Given the description of an element on the screen output the (x, y) to click on. 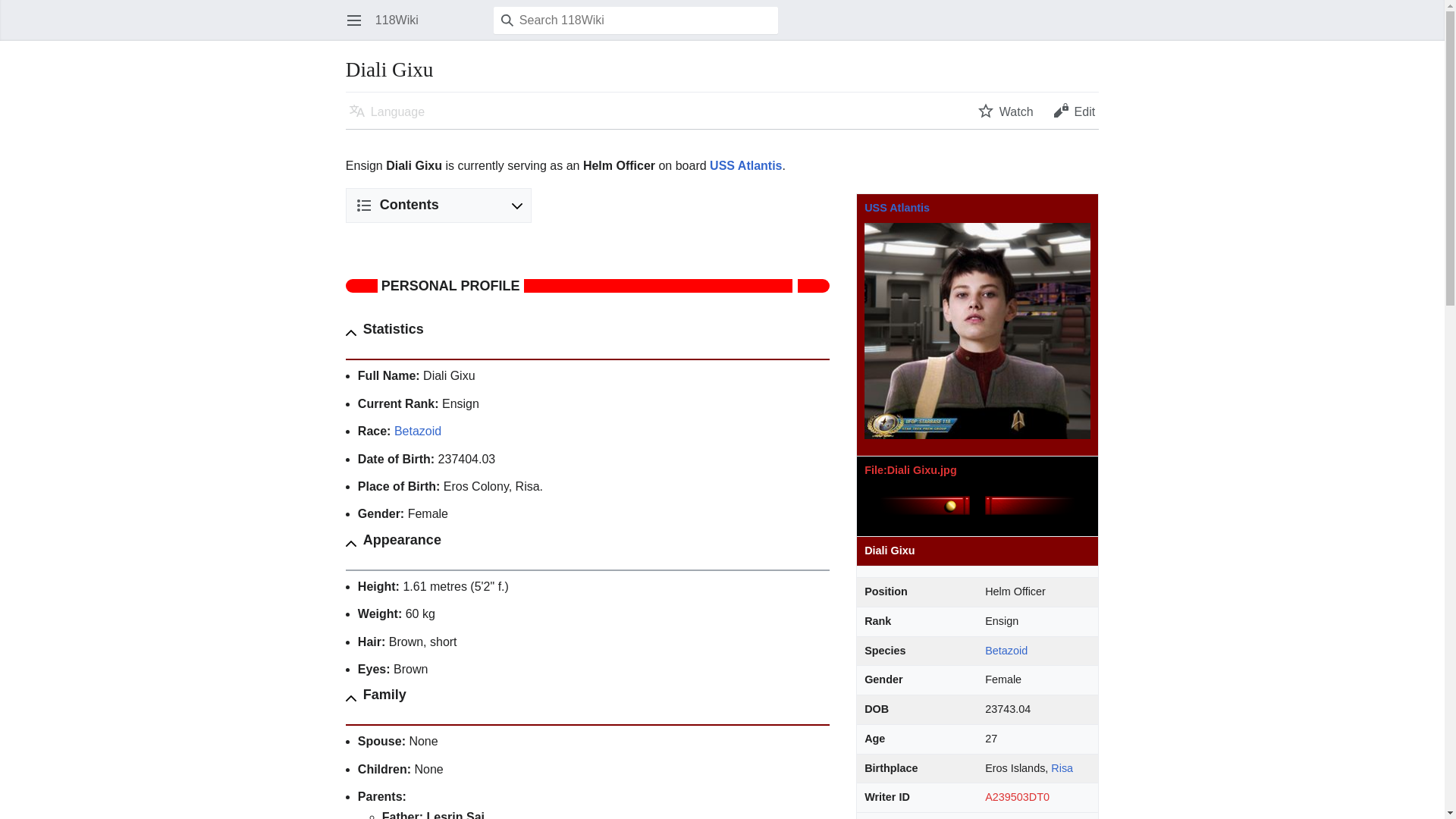
File:Diali Gixu.jpg (910, 469)
USS Atlantis (897, 207)
Language (386, 110)
A239503DT0 (1017, 797)
Betazoid (417, 431)
Edit the lead section of this page (1074, 110)
USS Atlantis (745, 164)
USS Atlantis (897, 207)
USS Atlantis (745, 164)
Risa (1062, 767)
